Given the description of an element on the screen output the (x, y) to click on. 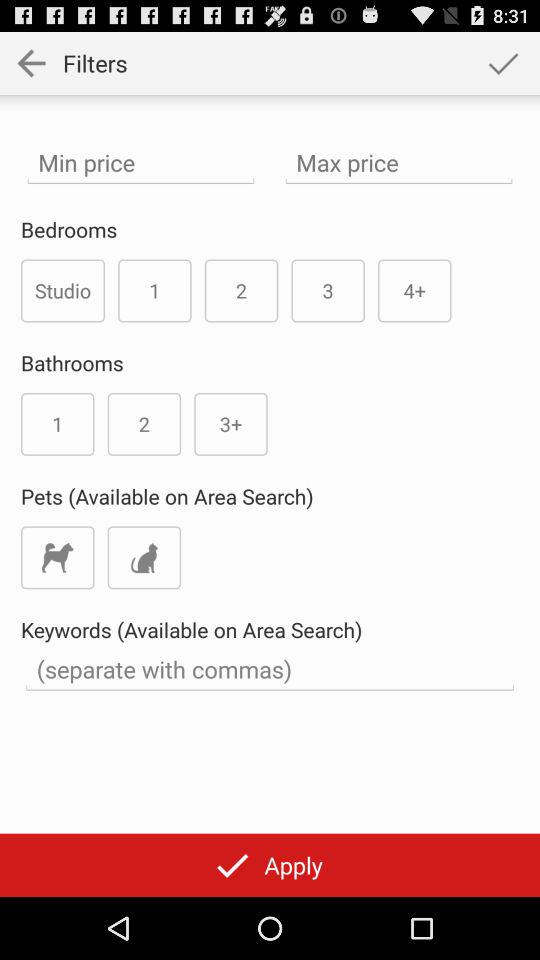
swipe until the studio (63, 290)
